Given the description of an element on the screen output the (x, y) to click on. 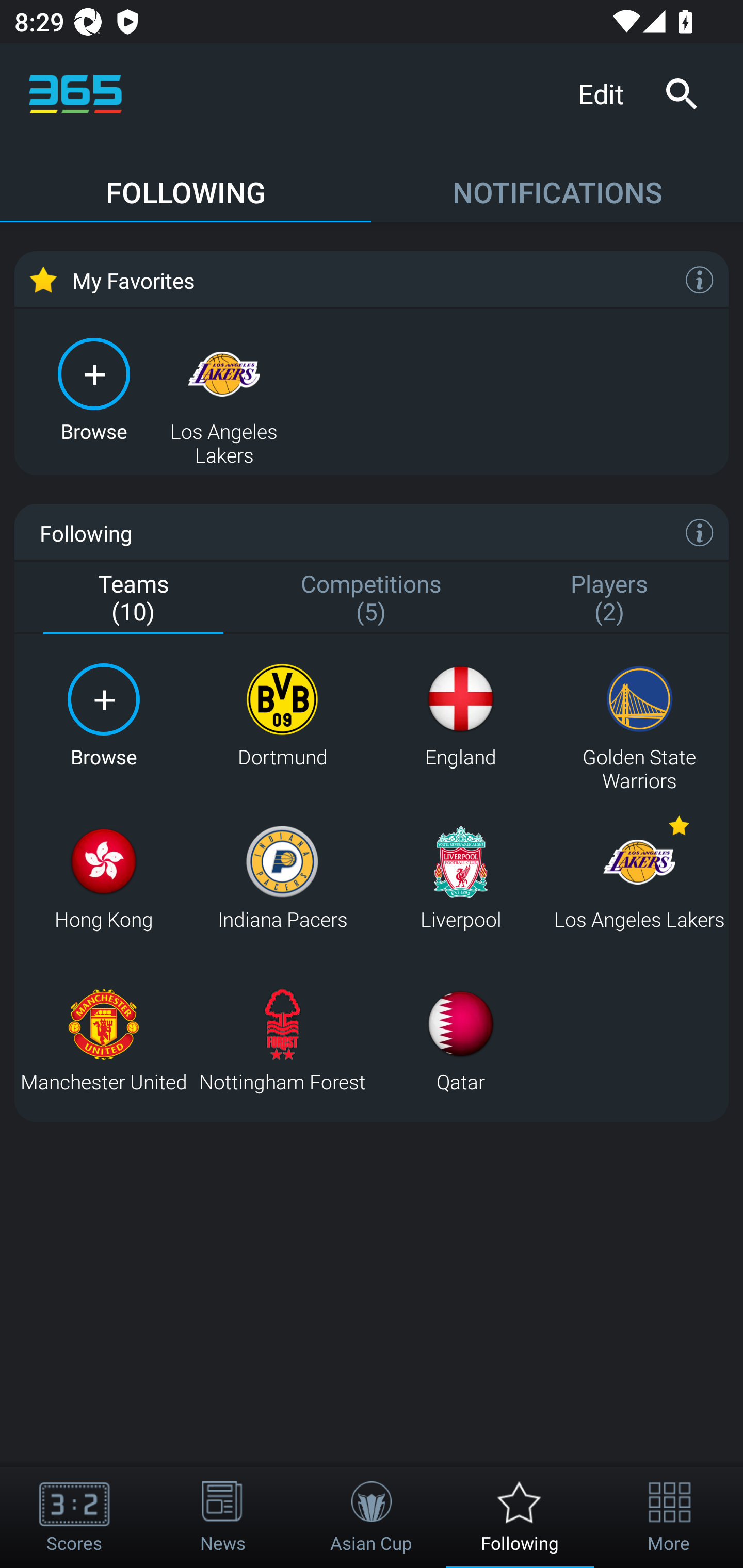
Search (681, 93)
Edit (608, 93)
FOLLOWING (185, 183)
NOTIFICATIONS (557, 183)
Browse (93, 387)
Los Angeles Lakers (224, 387)
Competitions
(5) (371, 598)
Players
(2) (609, 598)
Browse (103, 715)
Dortmund (282, 715)
England (460, 715)
Golden State Warriors (638, 715)
Hong Kong (103, 877)
Indiana Pacers (282, 877)
Liverpool (460, 877)
Los Angeles Lakers (638, 877)
Manchester United (103, 1040)
Nottingham Forest (282, 1040)
Qatar (460, 1040)
Scores (74, 1517)
News (222, 1517)
Asian Cup (371, 1517)
More (668, 1517)
